Given the description of an element on the screen output the (x, y) to click on. 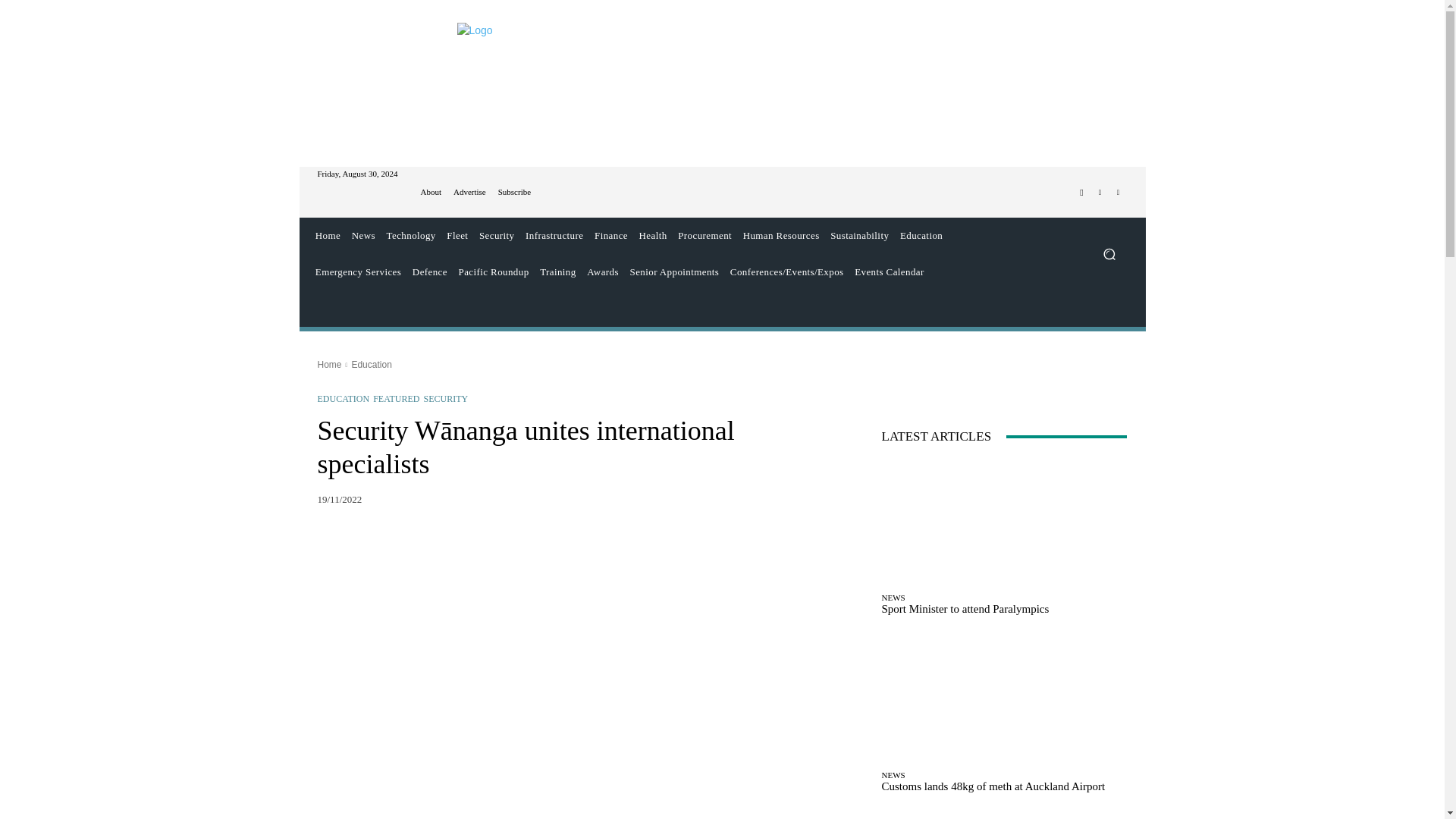
Facebook (1080, 192)
Human Resources (780, 235)
View all posts in Education (370, 364)
Fleet (457, 235)
Advertise (469, 192)
Security (496, 235)
Procurement (704, 235)
Home (327, 235)
Linkedin (1117, 192)
Sport Minister to attend Paralympics (1003, 522)
